Given the description of an element on the screen output the (x, y) to click on. 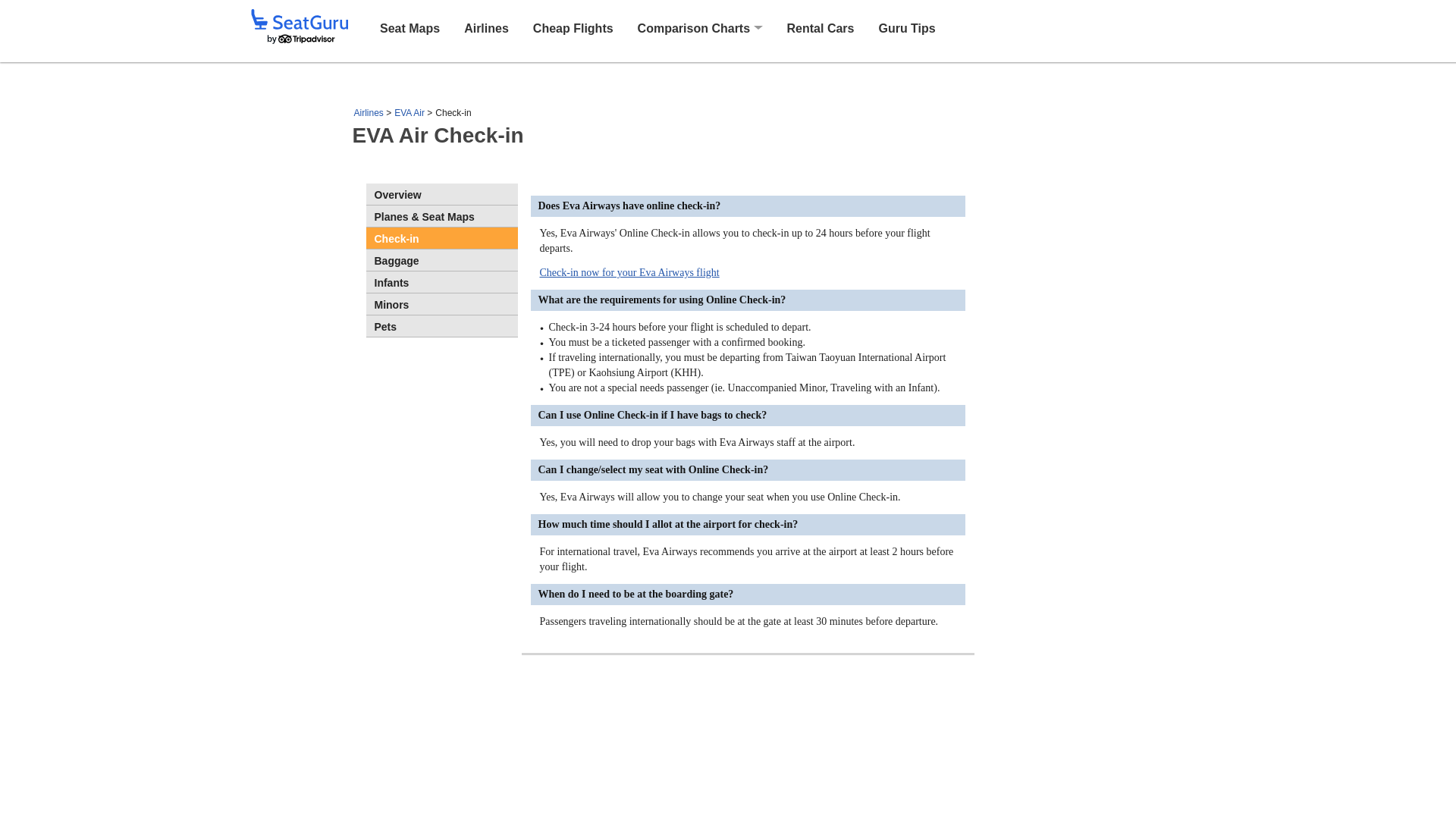
Cheap Flights (572, 27)
Infants (440, 281)
Check-in now for your Eva Airways flight (629, 272)
Airlines (486, 27)
Airlines (367, 112)
Baggage (440, 260)
Guru Tips (905, 27)
Pets (440, 325)
Seat Maps (409, 27)
Rental Cars (820, 27)
